Given the description of an element on the screen output the (x, y) to click on. 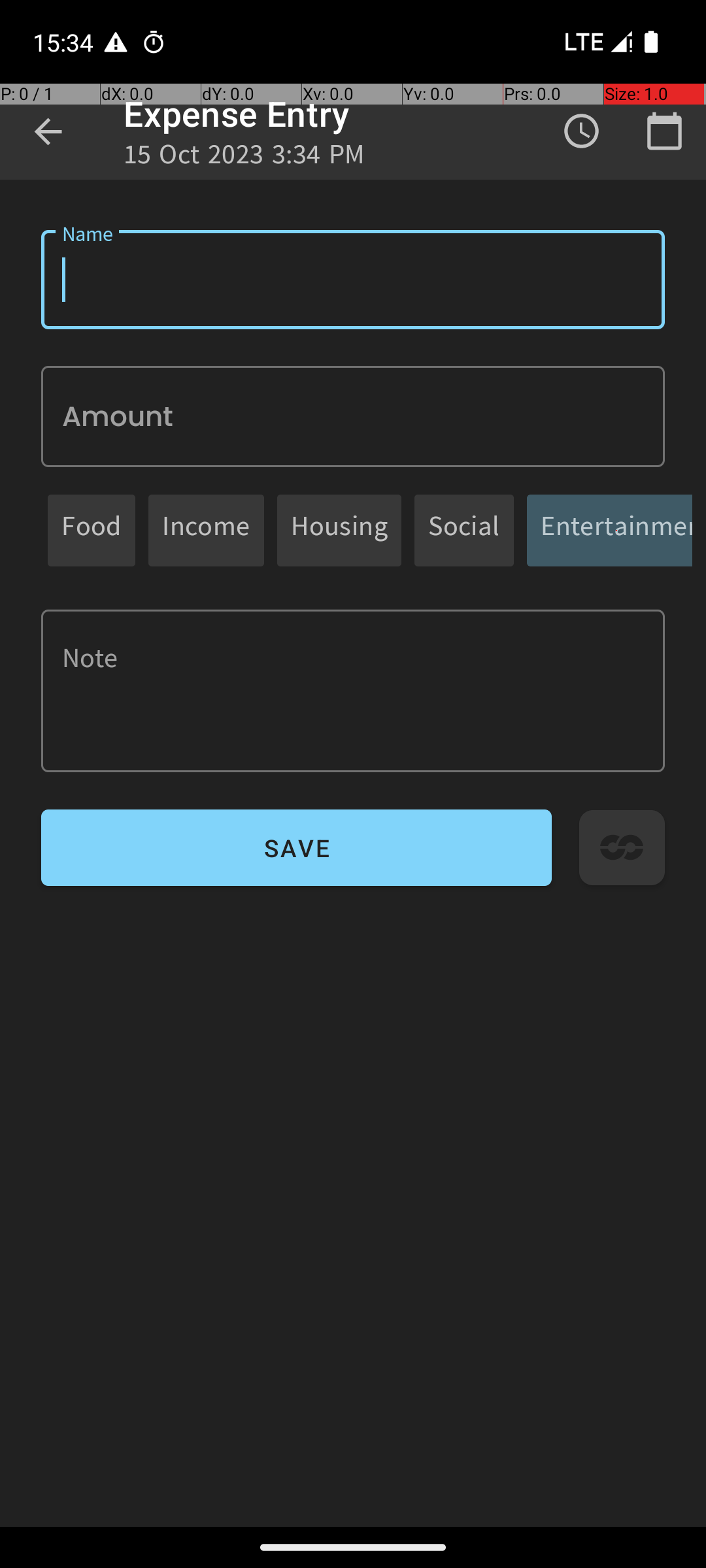
Expense Entry Element type: android.widget.TextView (236, 113)
15 Oct 2023 3:34 PM Element type: android.widget.TextView (244, 157)
Name Element type: android.widget.EditText (352, 279)
SAVE Element type: android.widget.Button (296, 847)
